Given the description of an element on the screen output the (x, y) to click on. 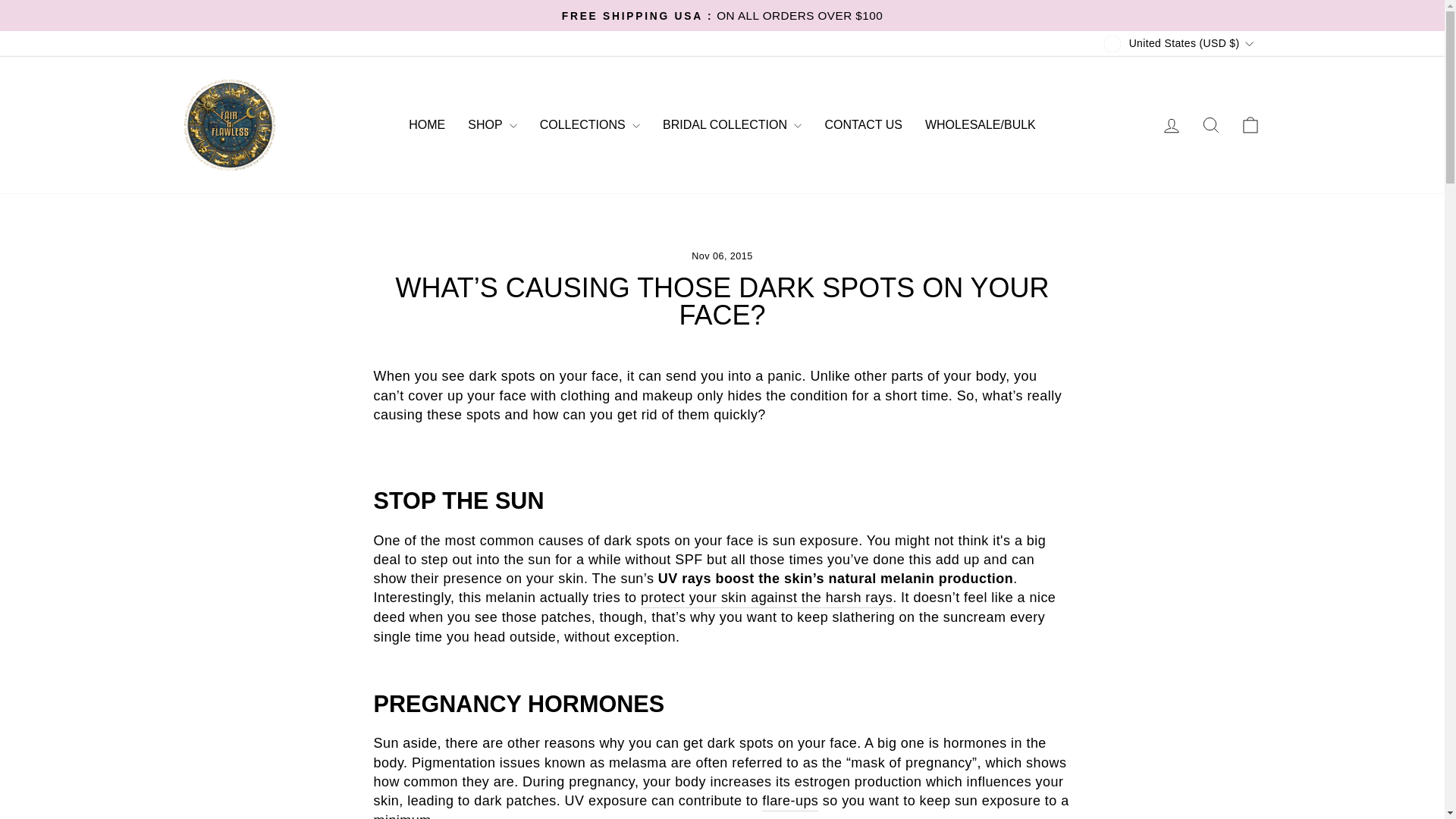
ICON-SEARCH (1210, 124)
ACCOUNT (1170, 125)
ICON-BAG-MINIMAL (1249, 124)
